Given the description of an element on the screen output the (x, y) to click on. 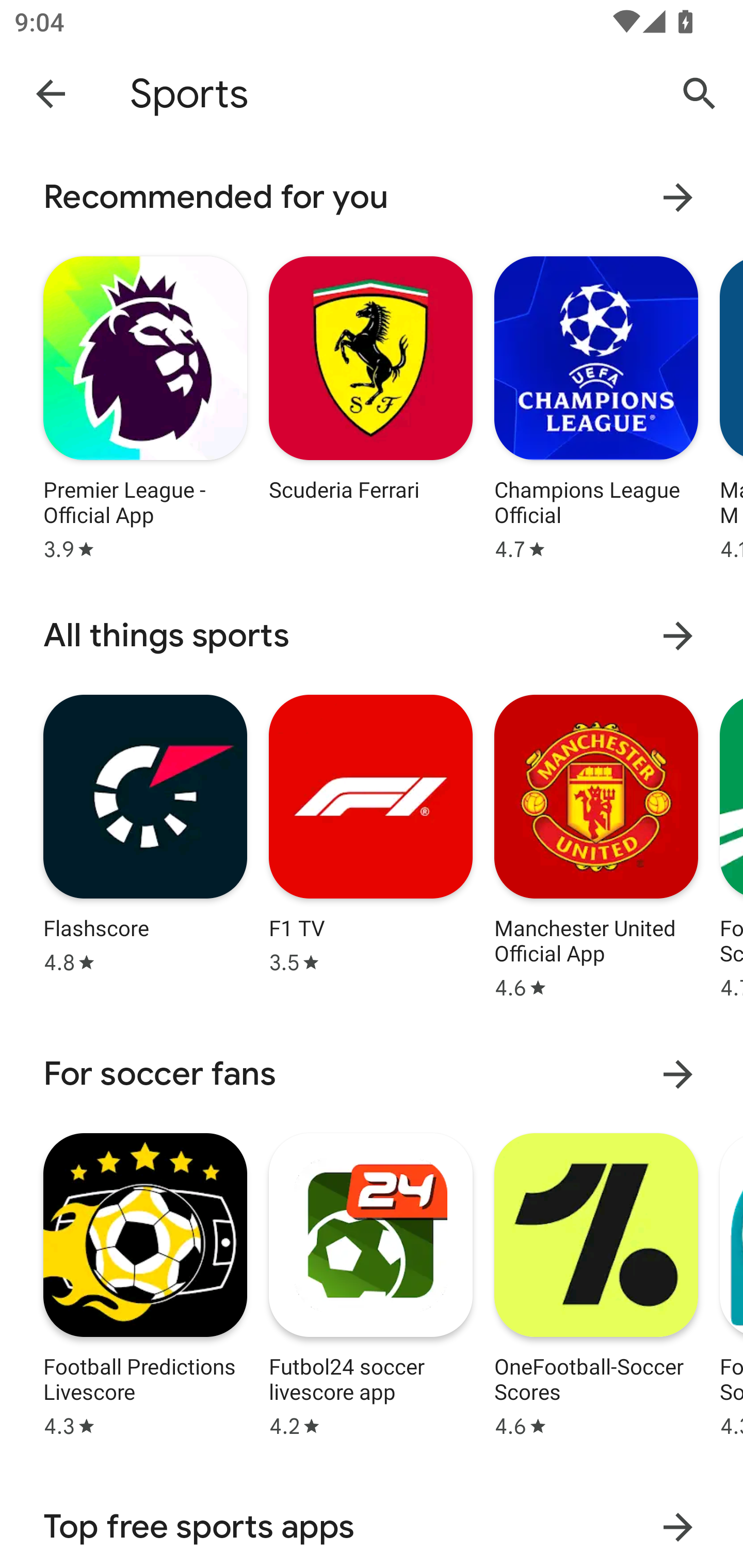
Navigate up (50, 92)
Search Google Play (699, 93)
More results for Recommended for you (677, 197)
App: Scuderia Ferrari


 (370, 405)
App: Champions League Official
Star rating: 4.7


 (595, 405)
More results for All things sports (677, 635)
App: Flashscore
Star rating: 4.8


 (144, 844)
App: F1 TV
Star rating: 3.5


 (370, 844)
For soccer fans
 More results for For soccer fans (371, 1073)
More results for For soccer fans (677, 1074)
App: OneFootball-Soccer Scores
Star rating: 4.6


 (595, 1282)
More results for Top free sports apps (677, 1527)
